Given the description of an element on the screen output the (x, y) to click on. 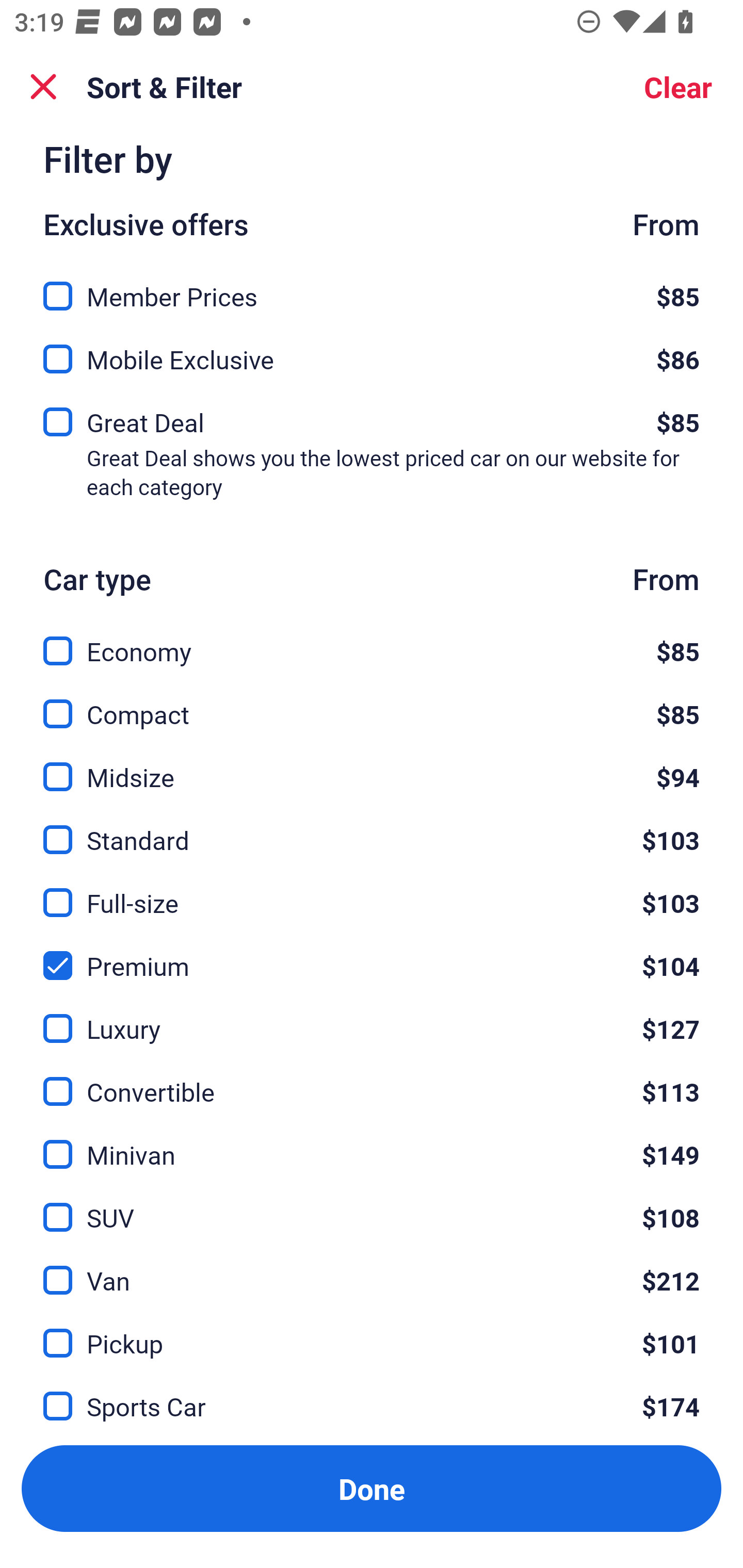
Close Sort and Filter (43, 86)
Clear (677, 86)
Member Prices, $85 Member Prices $85 (371, 285)
Mobile Exclusive, $86 Mobile Exclusive $86 (371, 353)
Economy, $85 Economy $85 (371, 639)
Compact, $85 Compact $85 (371, 702)
Midsize, $94 Midsize $94 (371, 764)
Standard, $103 Standard $103 (371, 827)
Full-size, $103 Full-size $103 (371, 890)
Premium, $104 Premium $104 (371, 953)
Luxury, $127 Luxury $127 (371, 1017)
Convertible, $113 Convertible $113 (371, 1079)
Minivan, $149 Minivan $149 (371, 1142)
SUV, $108 SUV $108 (371, 1205)
Van, $212 Van $212 (371, 1268)
Pickup, $101 Pickup $101 (371, 1330)
Sports Car, $174 Sports Car $174 (371, 1394)
Apply and close Sort and Filter Done (371, 1488)
